Given the description of an element on the screen output the (x, y) to click on. 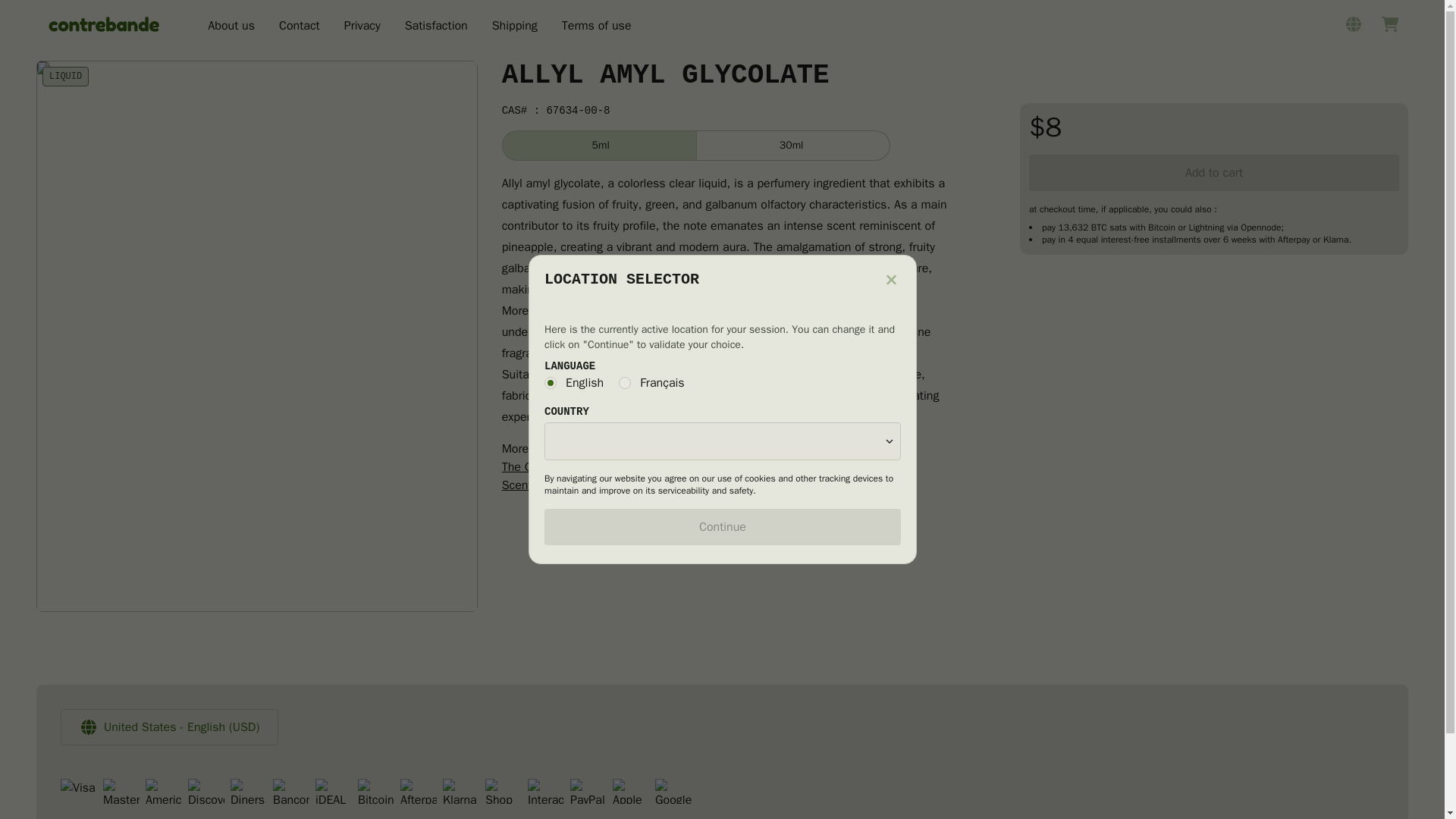
Language (722, 382)
Satisfaction (435, 27)
Contrebande (103, 23)
Cart (1389, 23)
ScentTree (528, 485)
The GoodScents Company (572, 467)
About us (231, 27)
Terms of use (596, 27)
Privacy (361, 27)
30ml (793, 145)
